Given the description of an element on the screen output the (x, y) to click on. 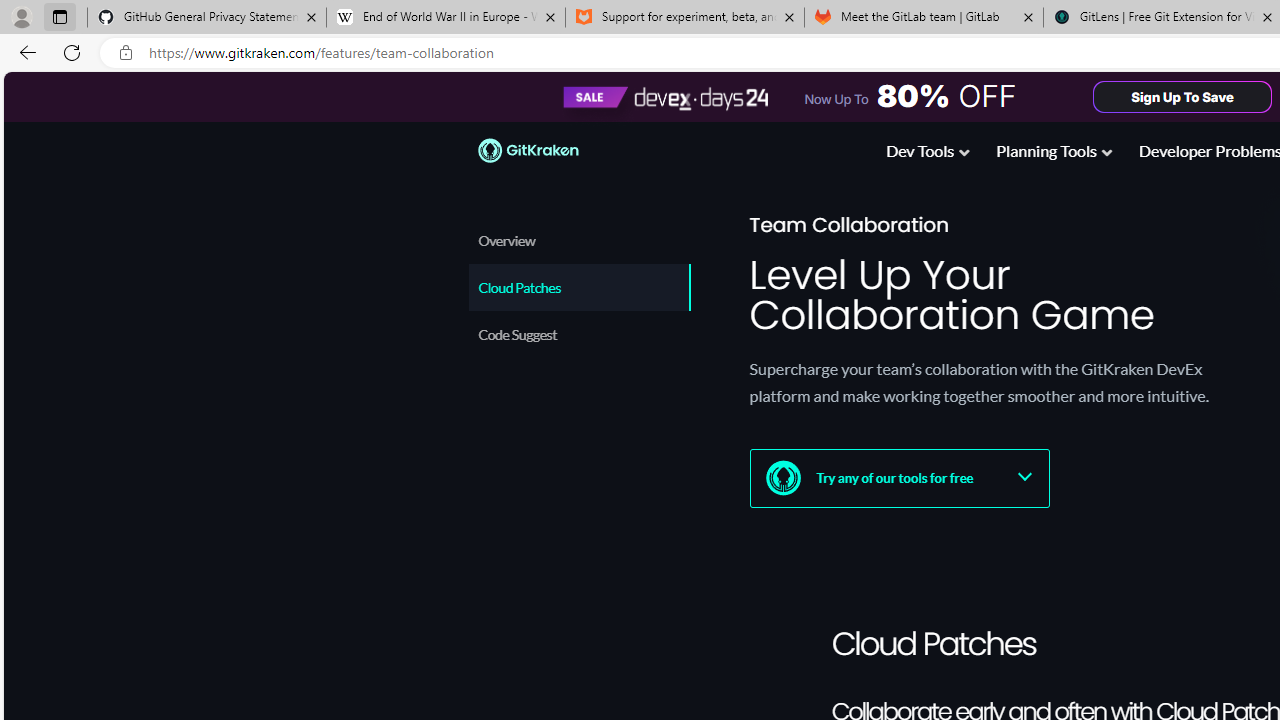
Cloud Patches (577, 287)
Sign Up To Save (1183, 96)
Meet the GitLab team | GitLab (924, 17)
End of World War II in Europe - Wikipedia (445, 17)
Code Suggest (579, 334)
